Given the description of an element on the screen output the (x, y) to click on. 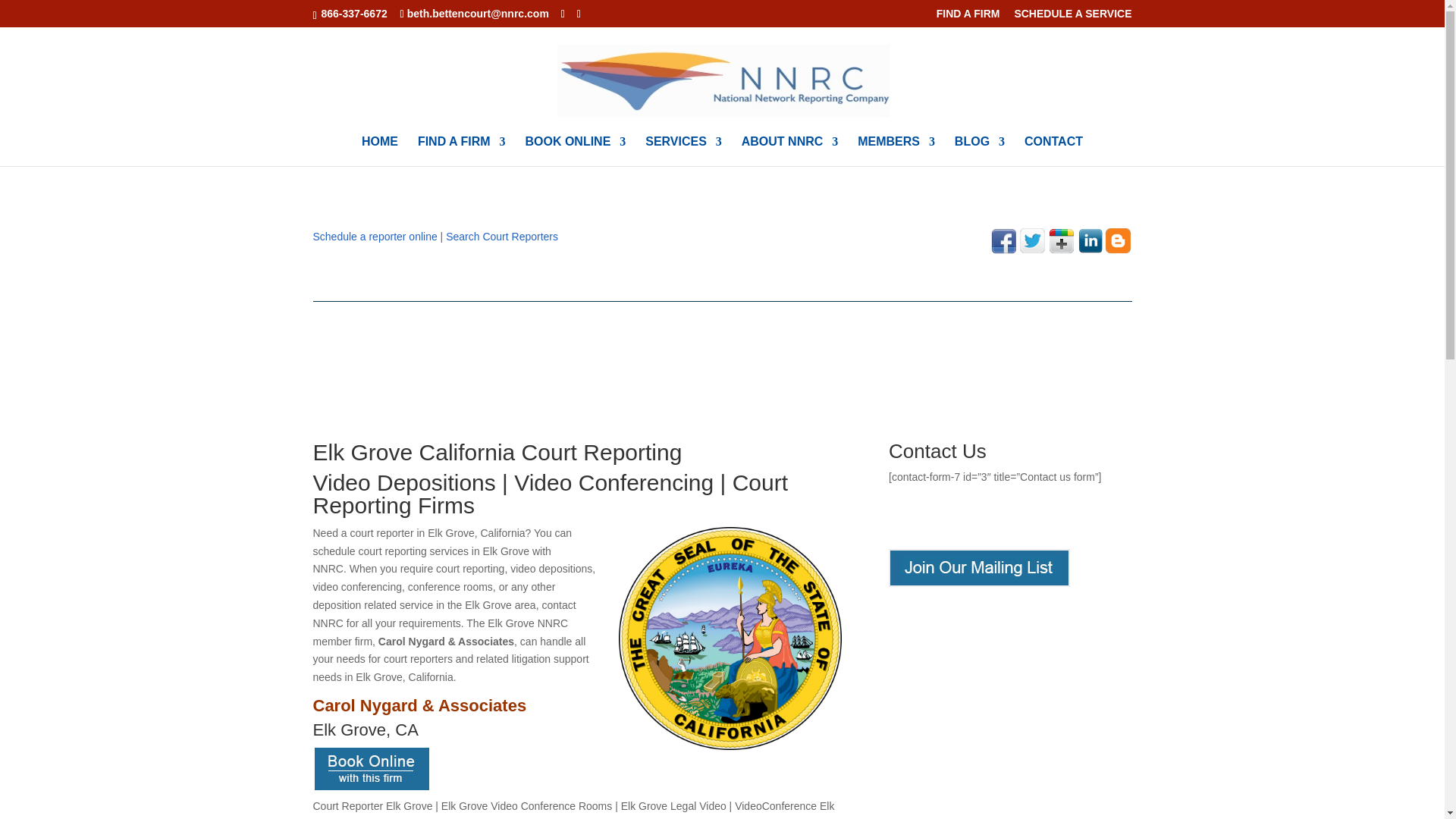
SERVICES (683, 151)
FIND A FIRM (968, 16)
SCHEDULE A SERVICE (1072, 16)
HOME (379, 151)
FIND A FIRM (461, 151)
BOOK ONLINE (575, 151)
